Given the description of an element on the screen output the (x, y) to click on. 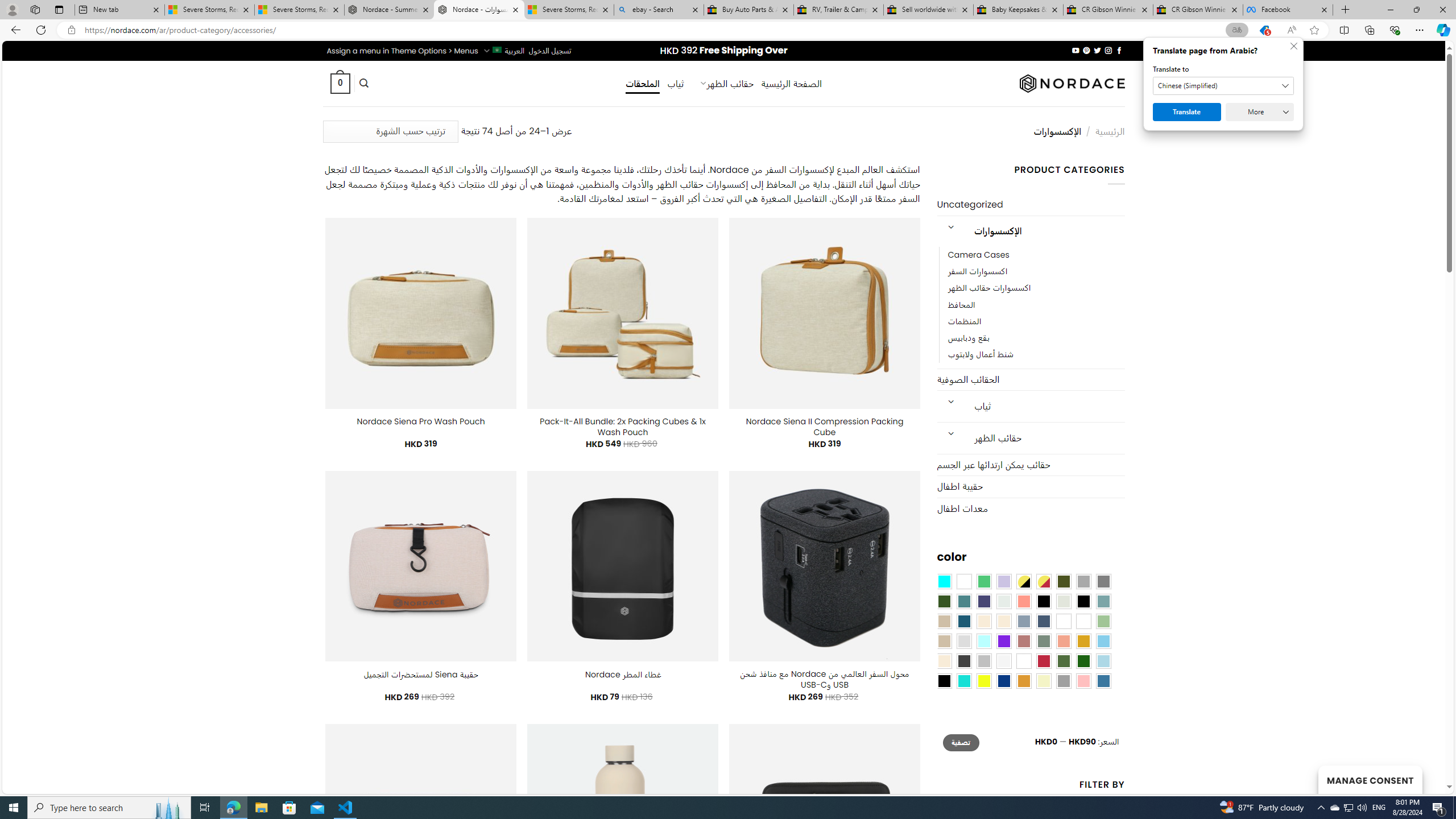
Yellow-Red (1043, 581)
Translate (1187, 112)
Assign a menu in Theme Options > Menus (402, 50)
Black-Brown (1082, 601)
Pack-It-All Bundle: 2x Packing Cubes & 1x Wash Pouch (621, 427)
Light Taupe (944, 640)
Uncategorized (1030, 204)
